Given the description of an element on the screen output the (x, y) to click on. 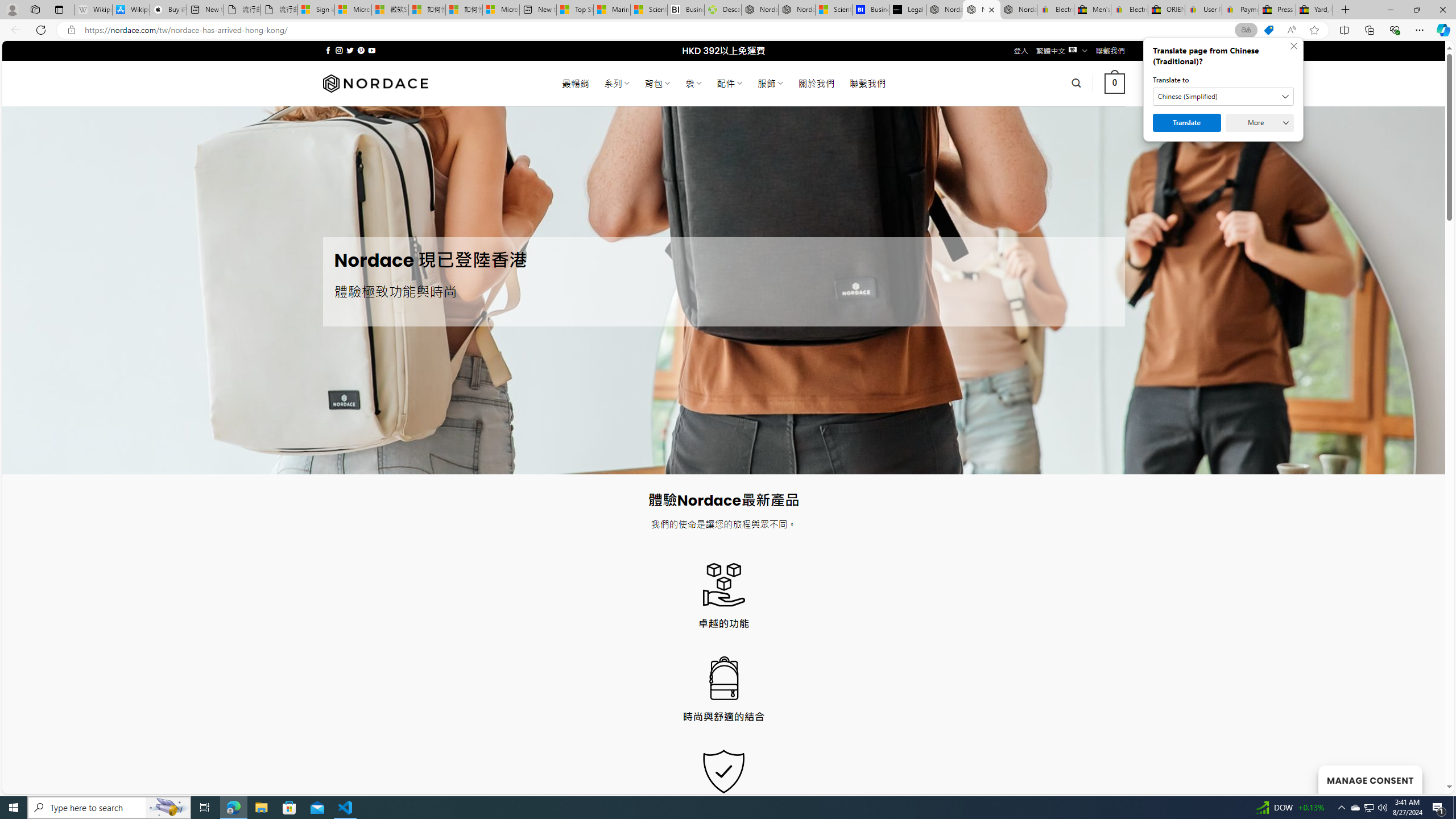
Translate to (1223, 96)
 0  (1115, 83)
